Given the description of an element on the screen output the (x, y) to click on. 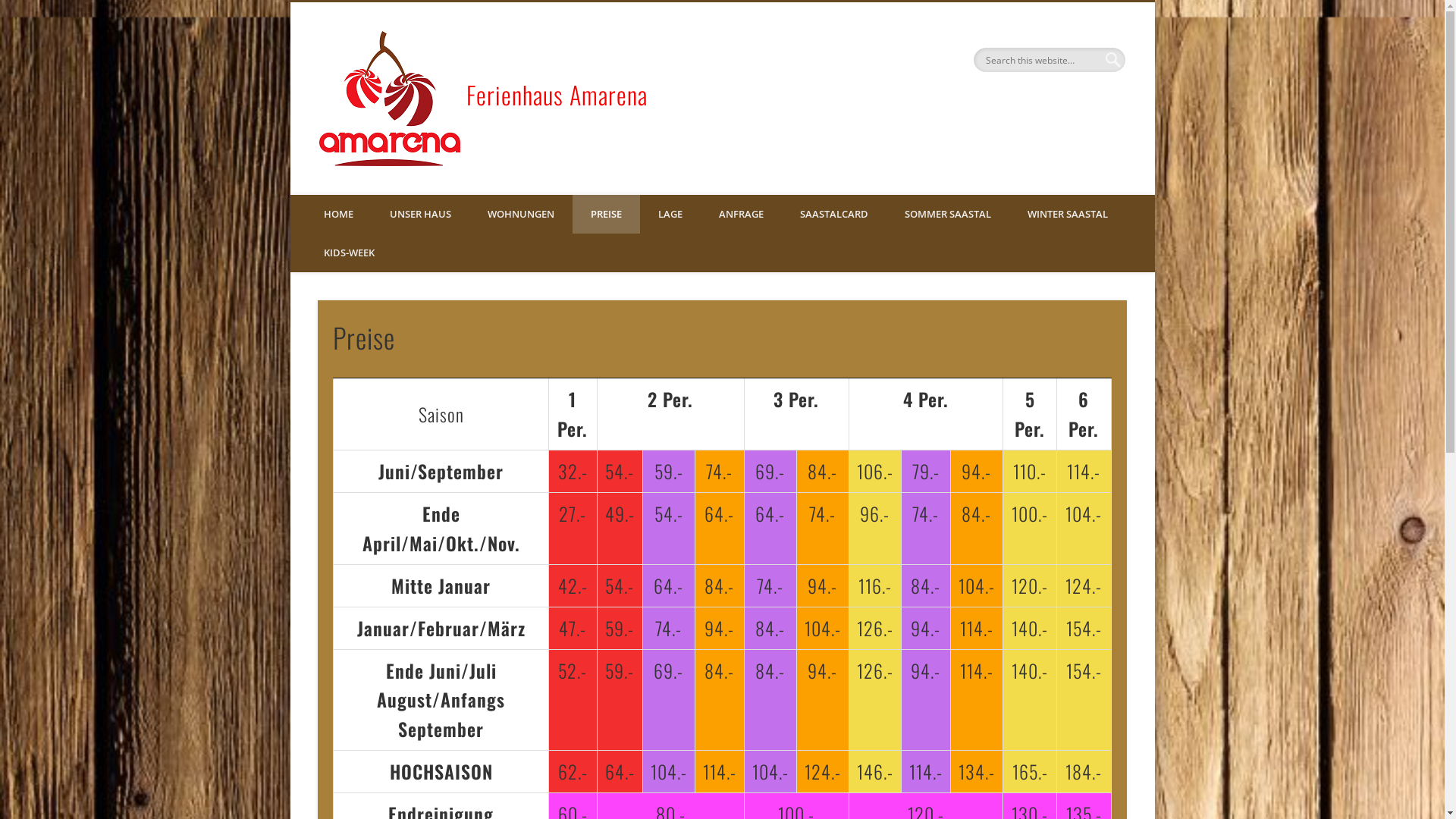
UNSER HAUS Element type: text (420, 213)
SOMMER SAASTAL Element type: text (946, 213)
ANFRAGE Element type: text (740, 213)
SAASTALCARD Element type: text (833, 213)
HOME Element type: text (337, 213)
Ferienhaus Amarena Element type: text (556, 94)
LAGE Element type: text (670, 213)
PREISE Element type: text (605, 213)
KIDS-WEEK Element type: text (348, 252)
Search Element type: text (11, 9)
WINTER SAASTAL Element type: text (1066, 213)
WOHNUNGEN Element type: text (519, 213)
